Given the description of an element on the screen output the (x, y) to click on. 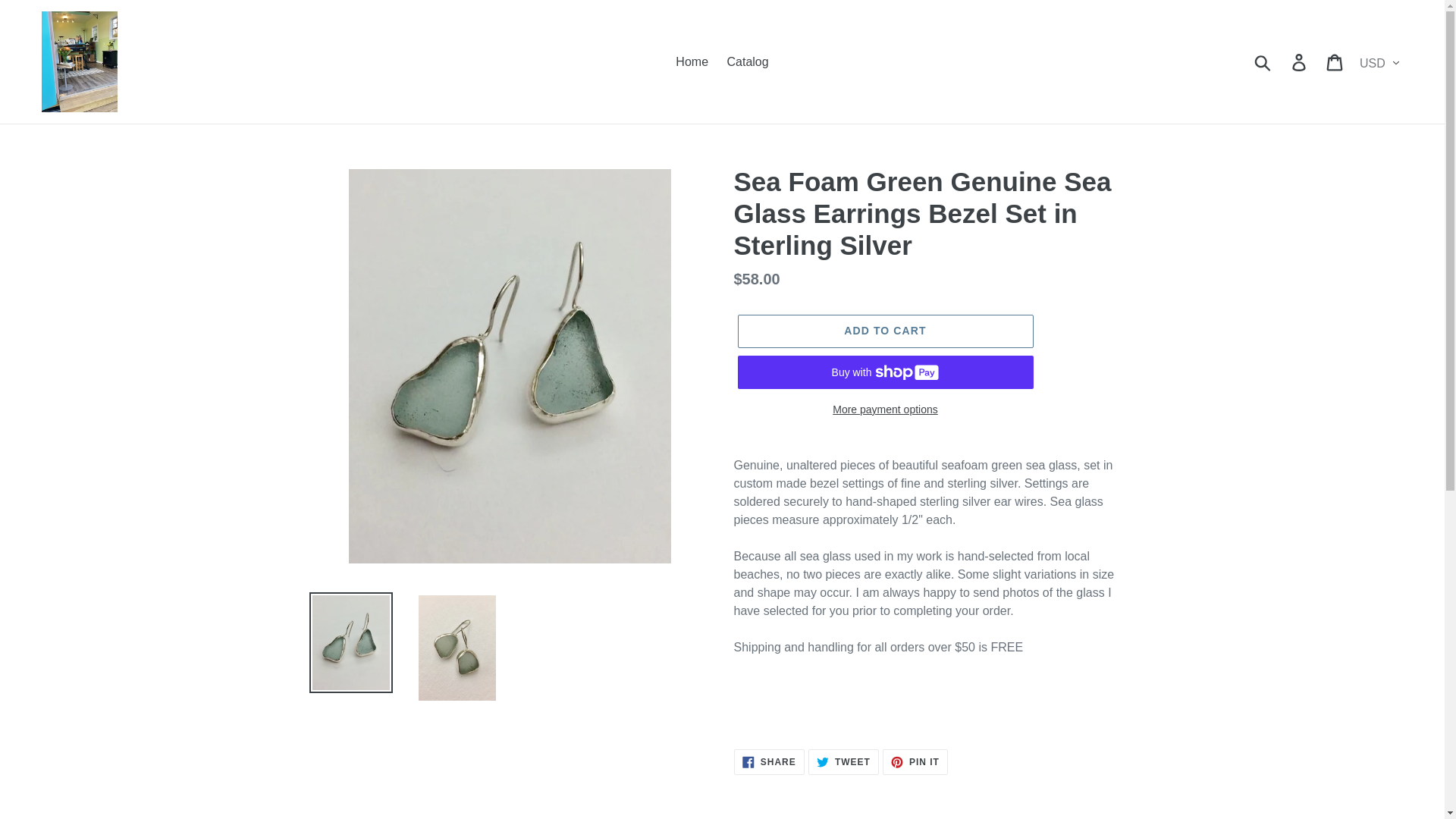
Cart (769, 761)
ADD TO CART (914, 761)
More payment options (1335, 61)
Home (884, 331)
Catalog (884, 409)
Log in (692, 60)
Submit (843, 761)
